Given the description of an element on the screen output the (x, y) to click on. 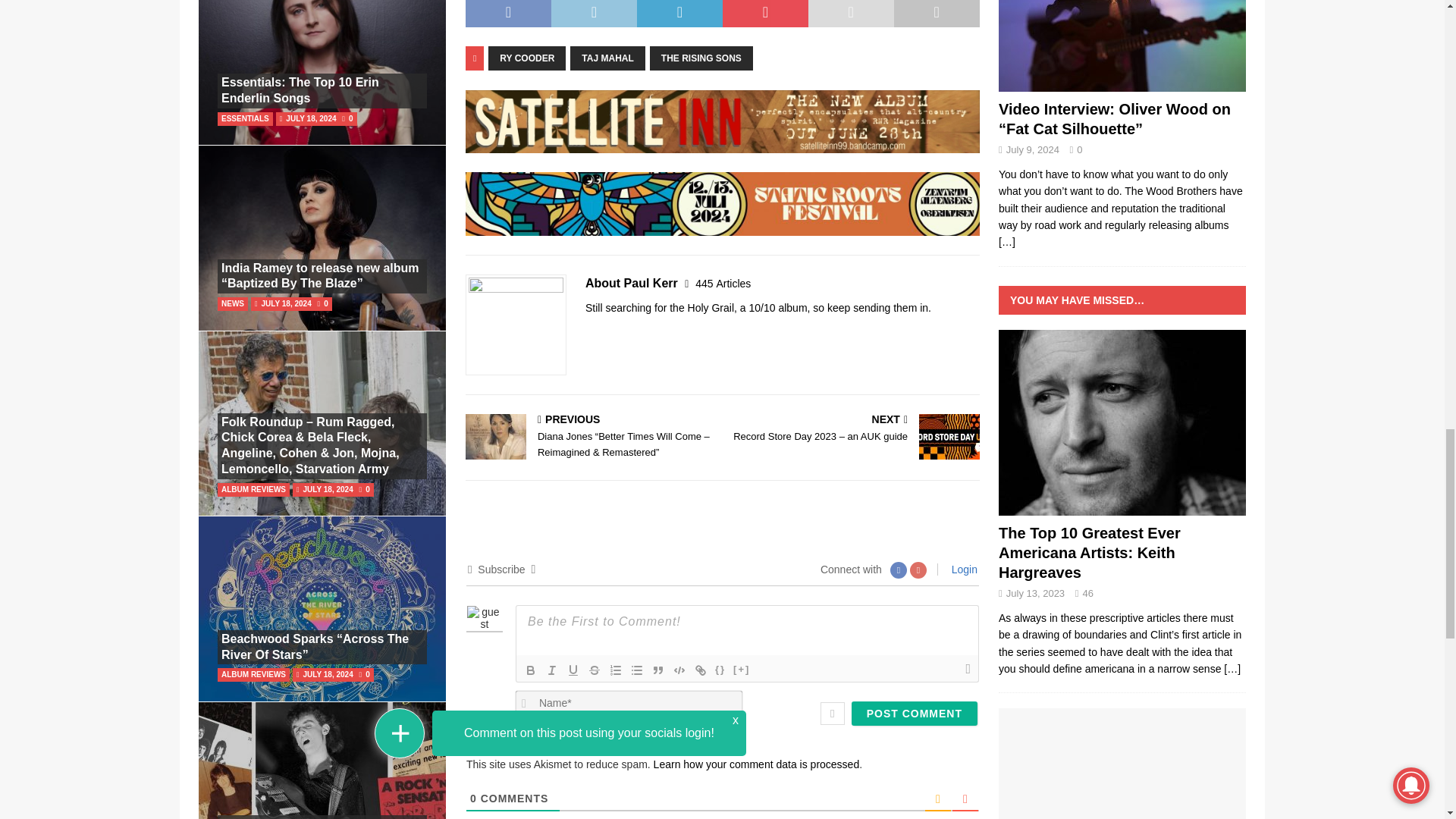
Post Comment (913, 713)
